Given the description of an element on the screen output the (x, y) to click on. 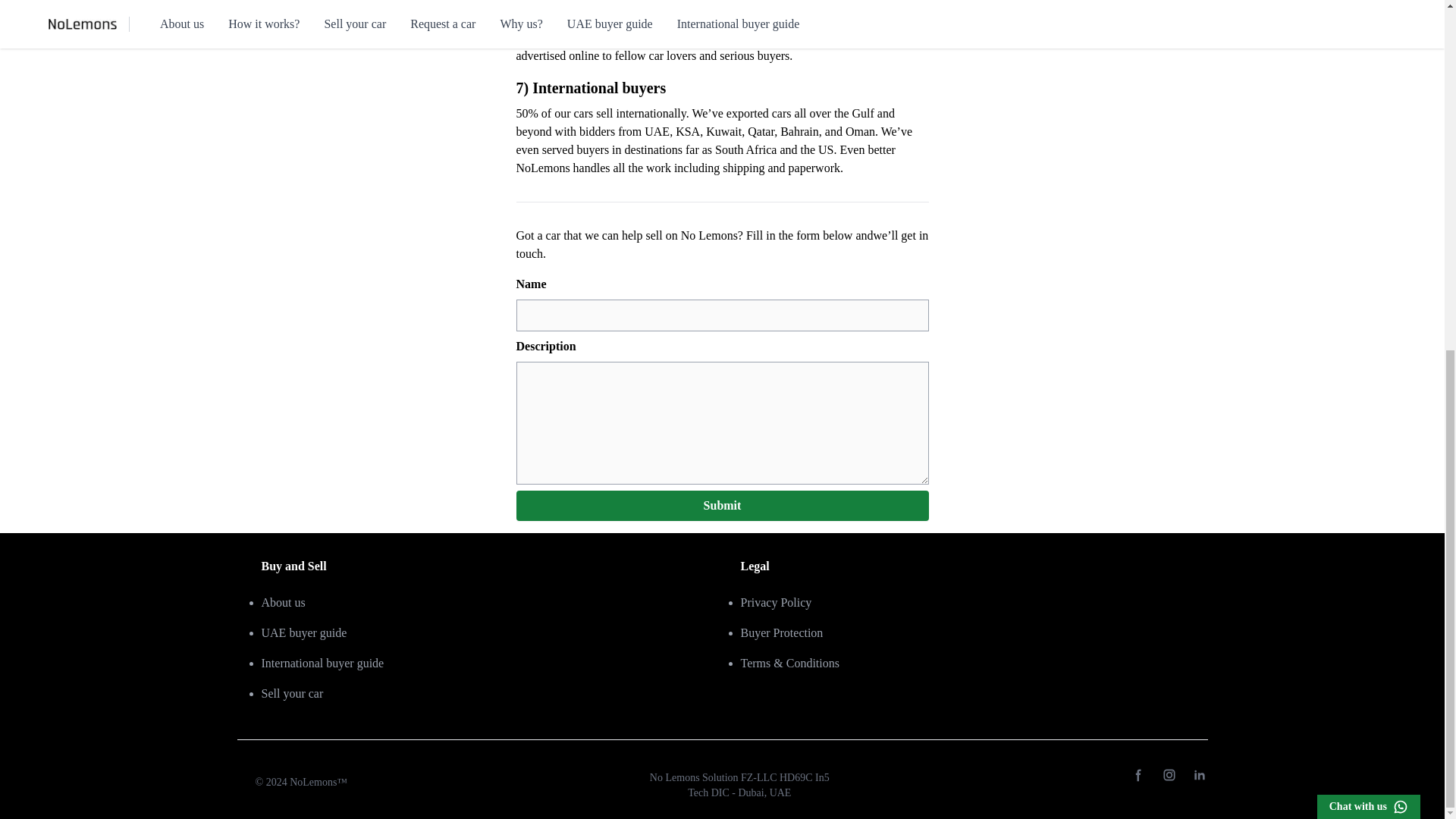
Privacy Policy (774, 602)
UAE buyer guide (303, 632)
LinkedIn page (1199, 774)
International buyer guide (322, 662)
About us (282, 602)
Instagram (1168, 774)
Submit (721, 505)
Sell your car (291, 693)
Facebook page (1139, 774)
Chat with us (1369, 198)
Buyer Protection (780, 632)
